Given the description of an element on the screen output the (x, y) to click on. 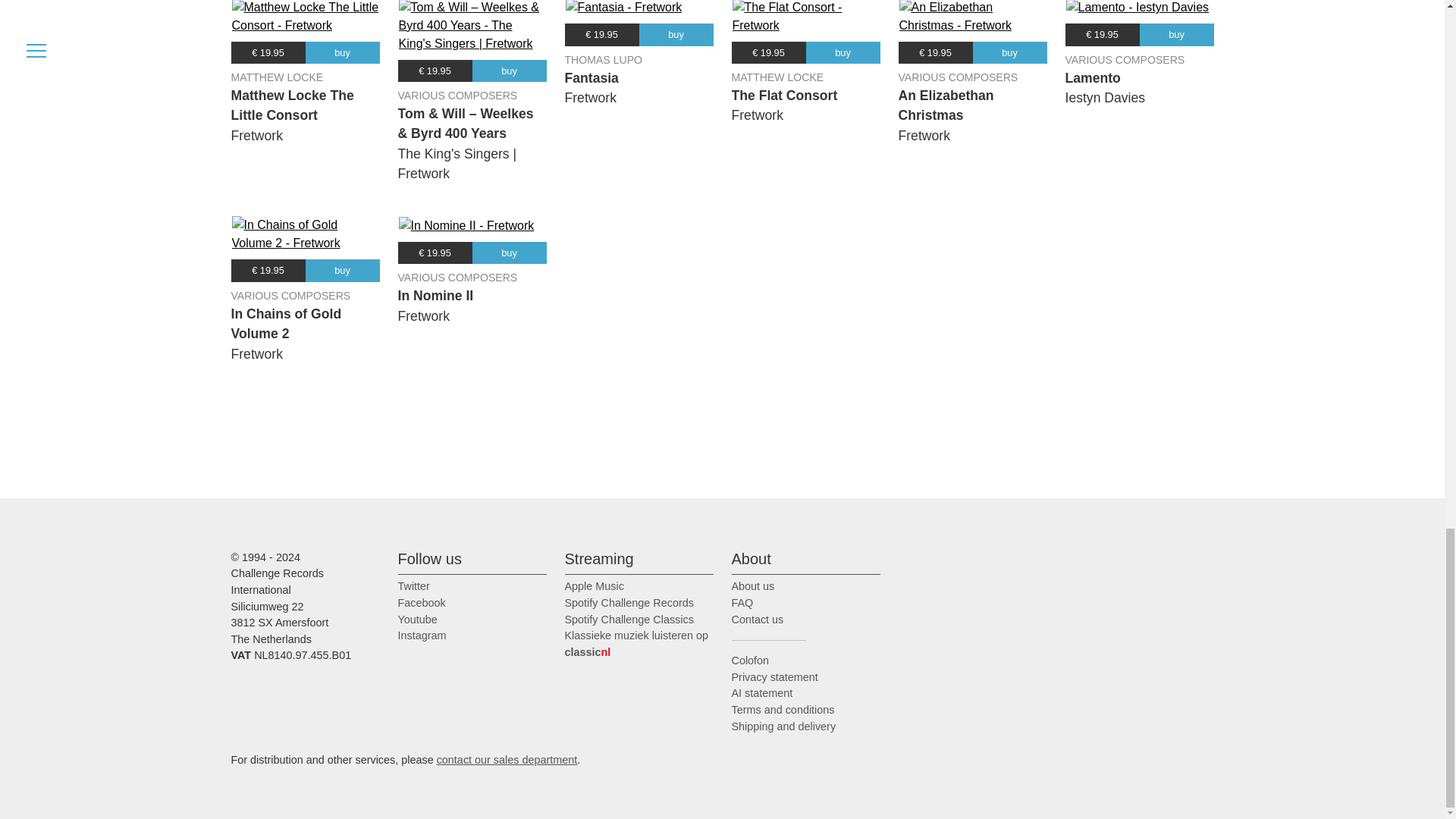
In Nomine II - Fretwork (466, 226)
Spotify Challenge Records (628, 603)
Lamento - Iestyn Davies (1137, 8)
Facebook (421, 603)
Apple Music (593, 585)
Spotify Challenge Classics (628, 619)
Fantasia - Fretwork (624, 8)
Instagram (421, 635)
The Flat Consort - Fretwork (805, 17)
Matthew Locke The Little Consort - Fretwork (304, 17)
